Given the description of an element on the screen output the (x, y) to click on. 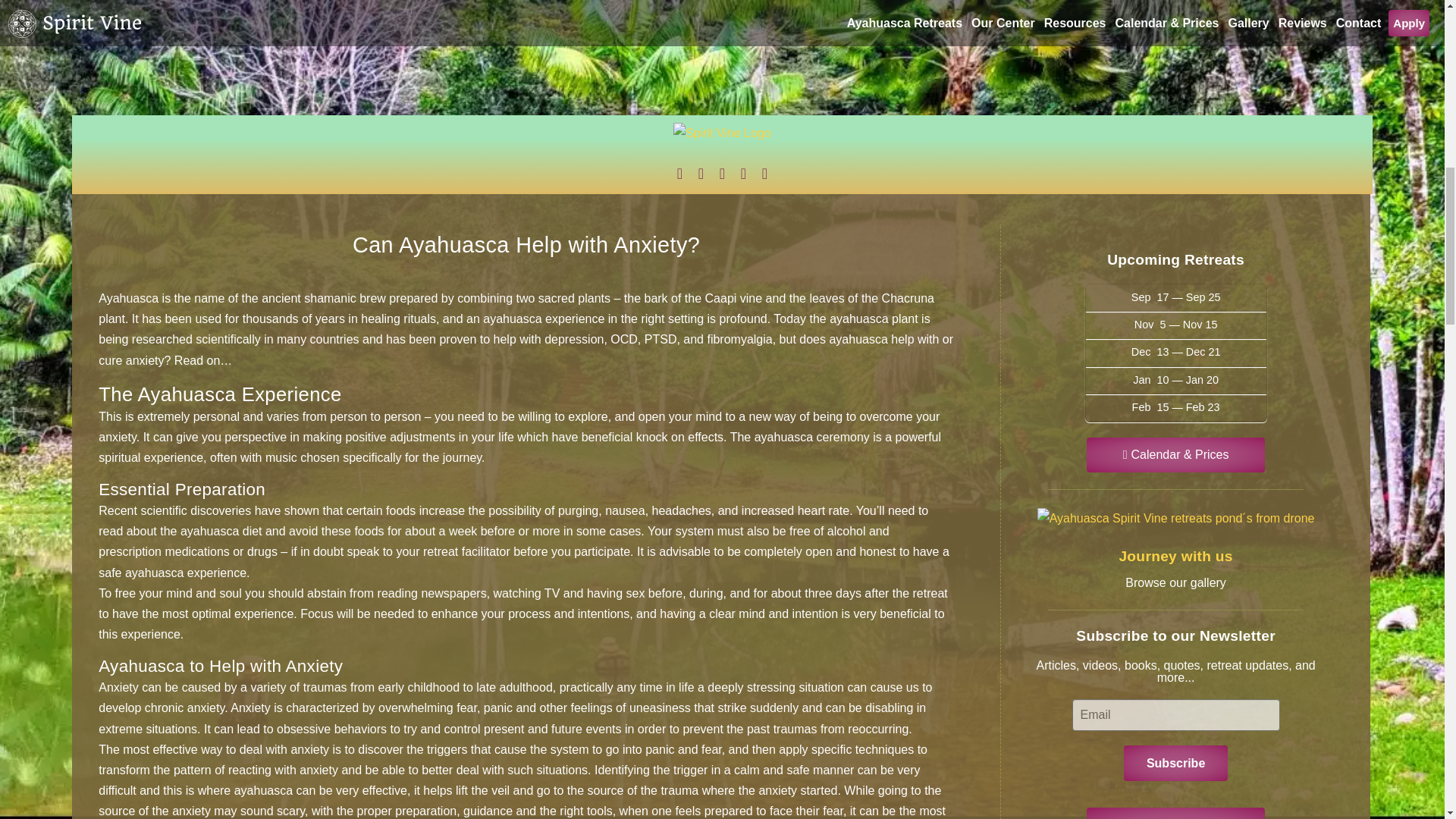
Read reviews of Spirit Vine on TripAdvisor (743, 173)
Watch Spirit Vine Videos on YouTube (721, 173)
Follow us on Instagram (679, 173)
Follow us on Pinterest (764, 173)
Spirit Vine Ayahuasca Retreat Center (722, 137)
